Given the description of an element on the screen output the (x, y) to click on. 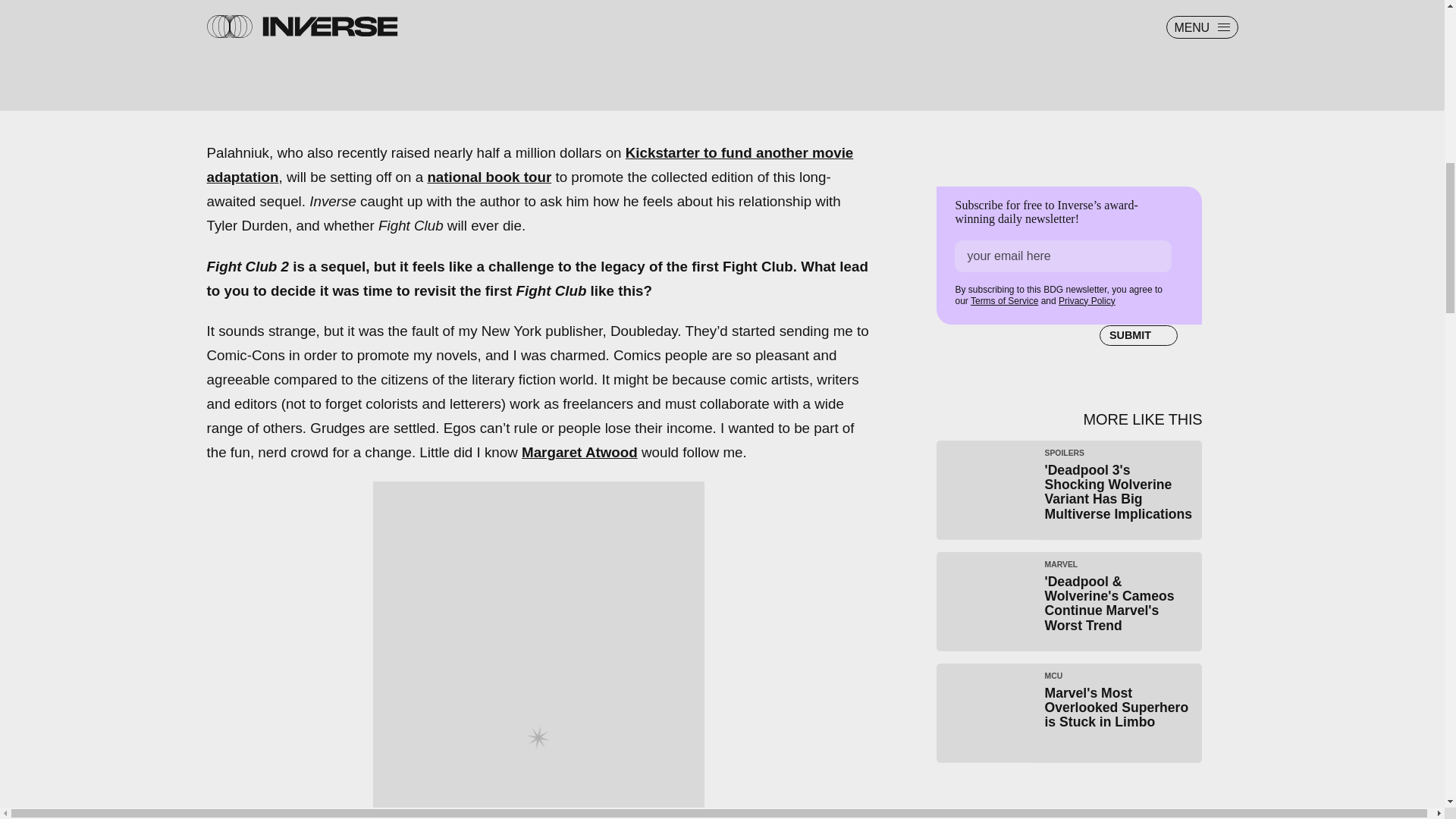
Terms of Service (1004, 300)
SUBMIT (1138, 335)
Kickstarter to fund another movie adaptation (529, 164)
national book tour (488, 176)
Margaret Atwood (1069, 712)
Privacy Policy (579, 452)
